Given the description of an element on the screen output the (x, y) to click on. 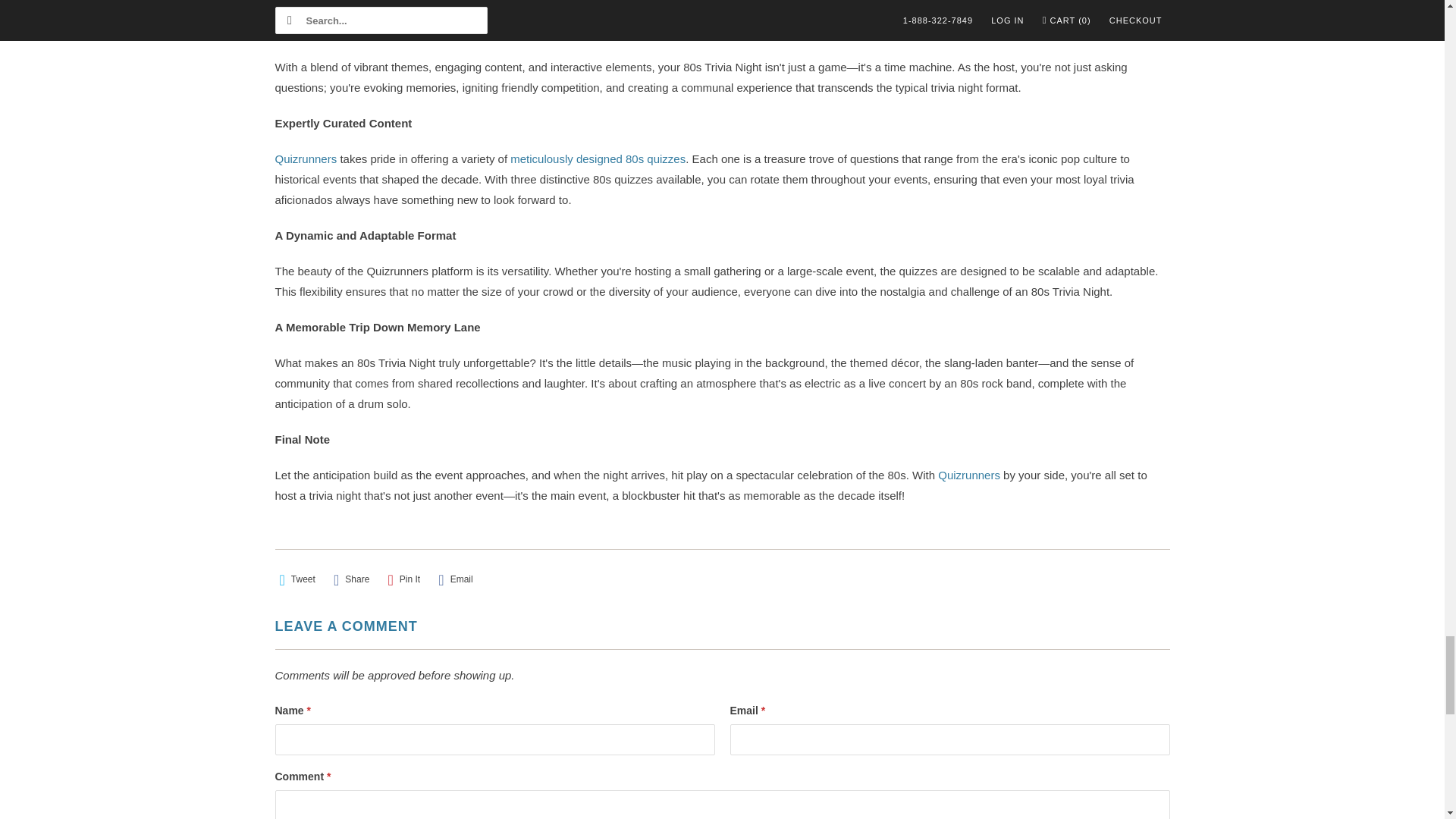
Quizrunners Home Page (307, 158)
Quizrunners Home Page (970, 474)
Share this on Twitter (296, 579)
Share this on Facebook (351, 579)
Email this to a friend (455, 579)
Share this on Pinterest (404, 579)
80s Quizzes 3-Pack (598, 158)
